Given the description of an element on the screen output the (x, y) to click on. 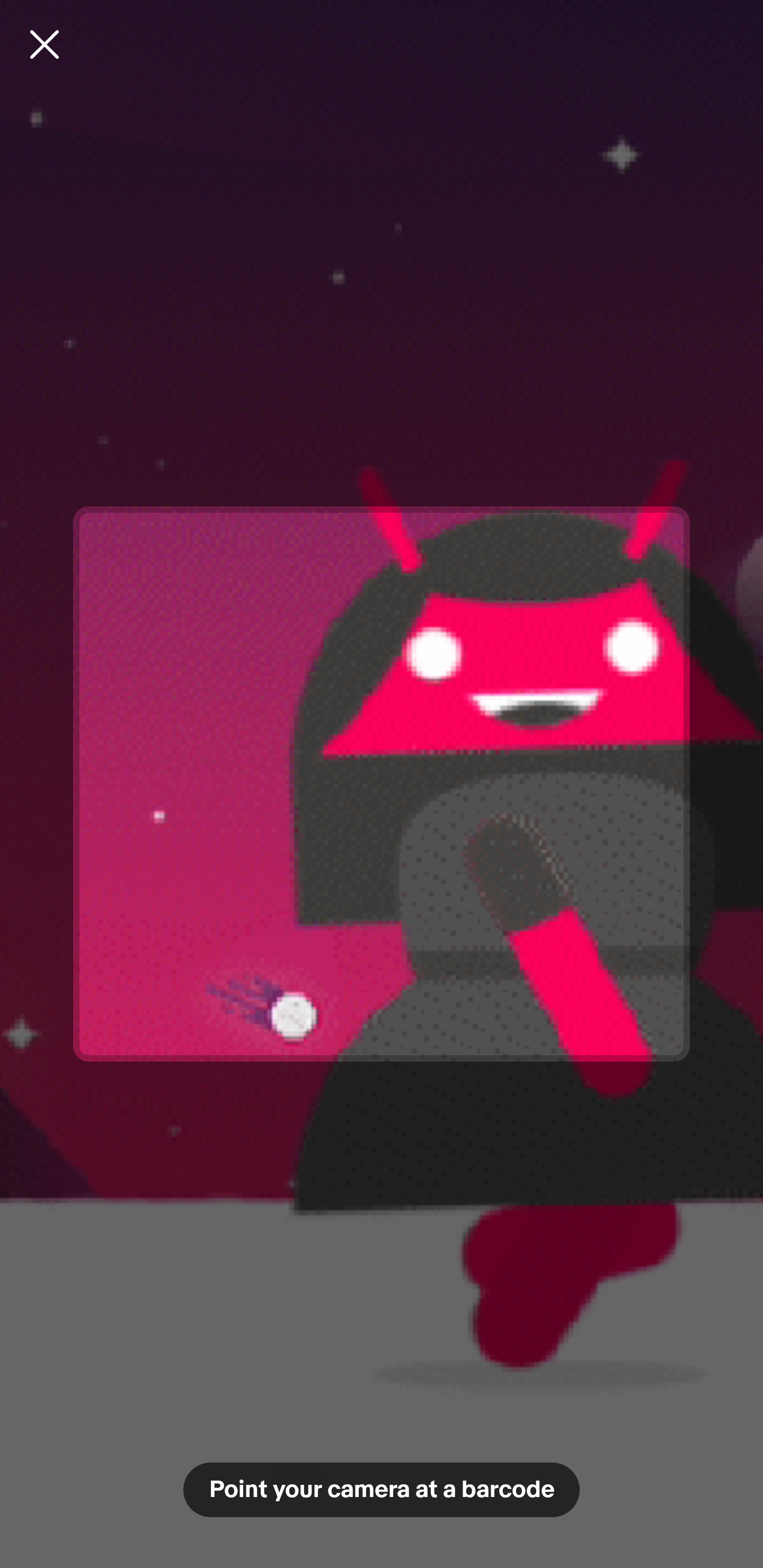
Close (44, 44)
